Given the description of an element on the screen output the (x, y) to click on. 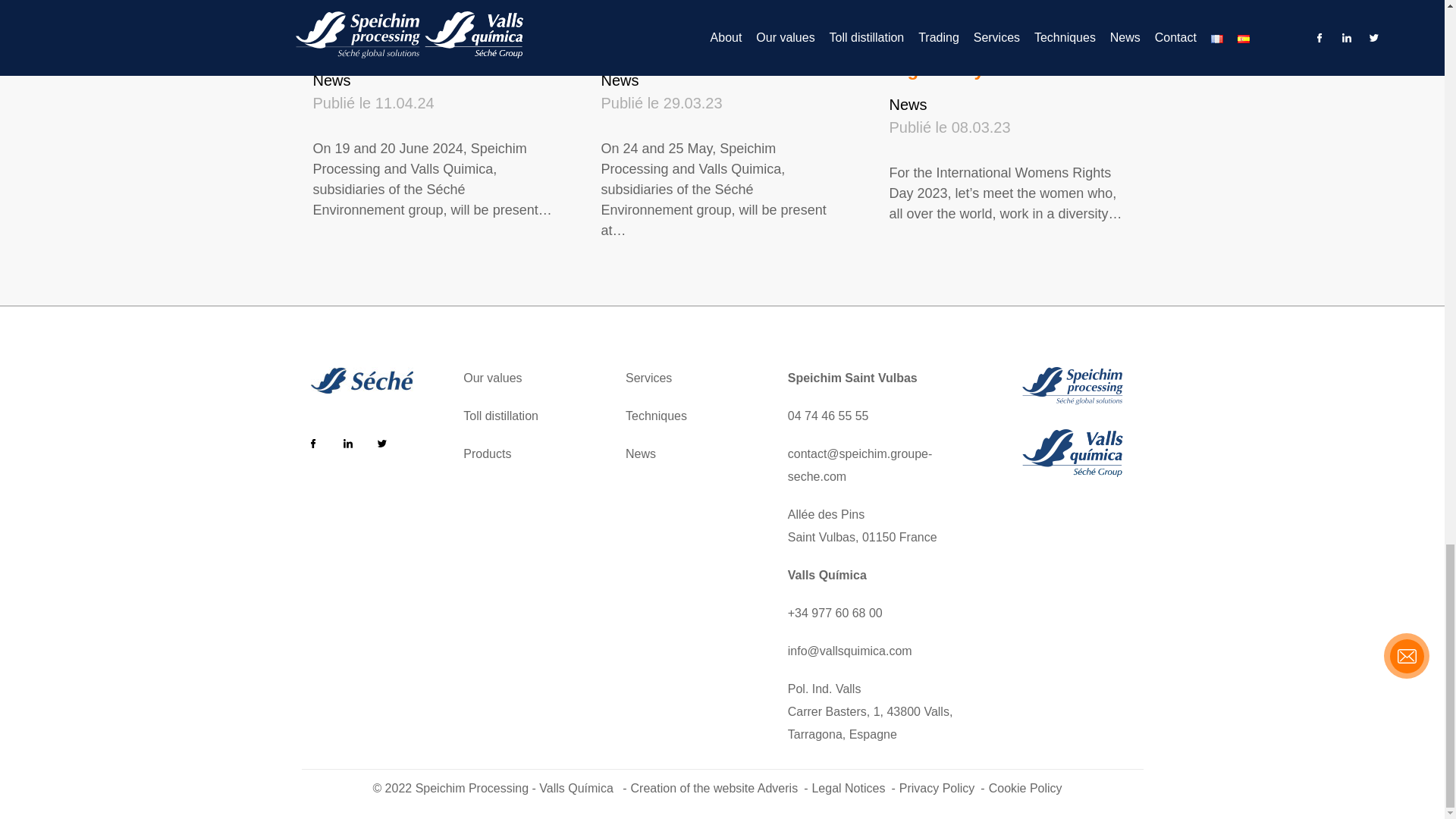
Privacy Policy (942, 788)
Cookie Policy (1028, 788)
Creation of the website Adveris (719, 788)
News (641, 454)
Toll distillation (500, 415)
Products (487, 454)
Legal Notices (852, 788)
Techniques (656, 415)
Our values (492, 377)
Services (648, 377)
